Given the description of an element on the screen output the (x, y) to click on. 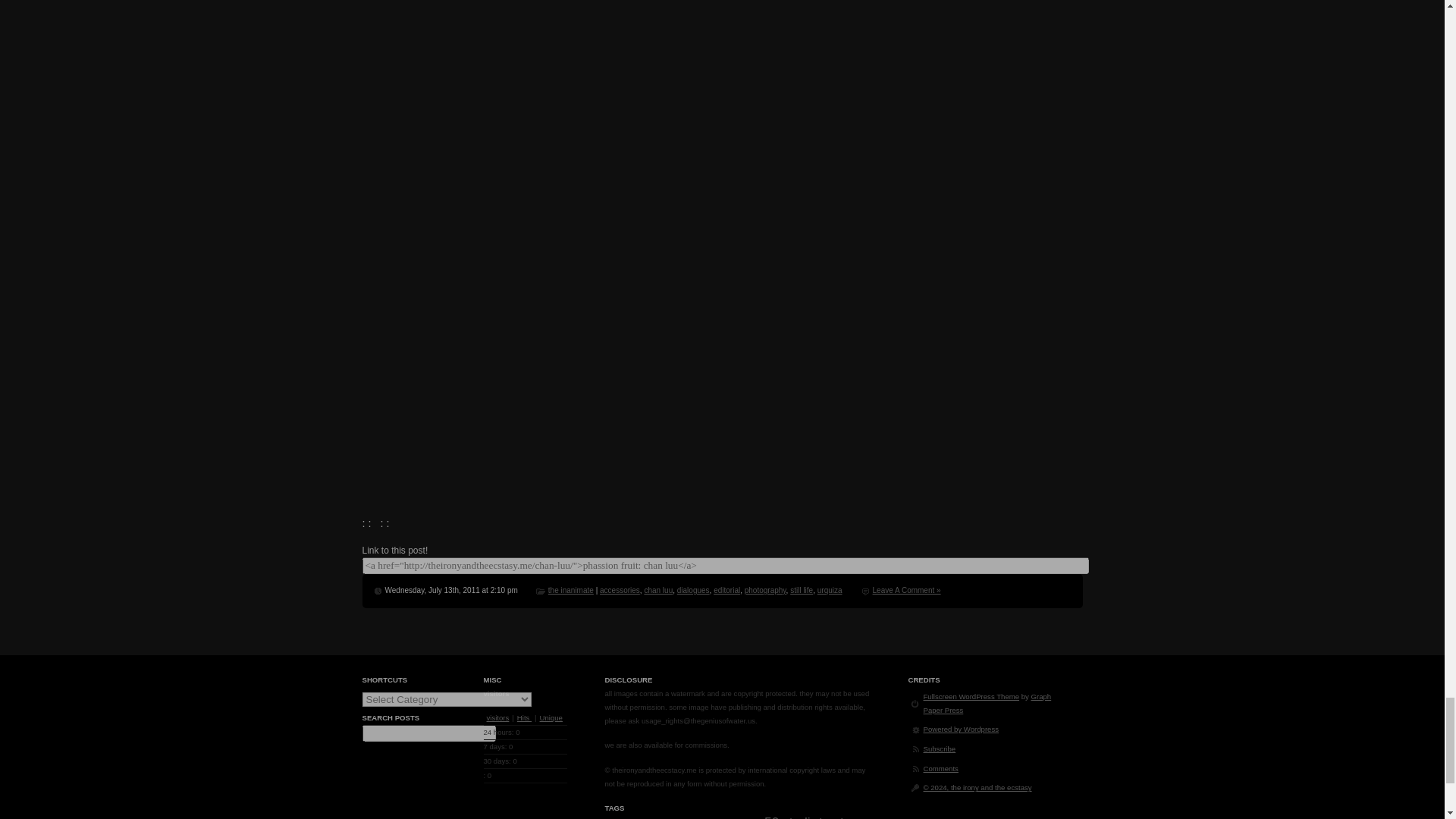
Fullscreen WordPress theme (971, 696)
Graph Paper Press (987, 703)
Home (977, 786)
